Given the description of an element on the screen output the (x, y) to click on. 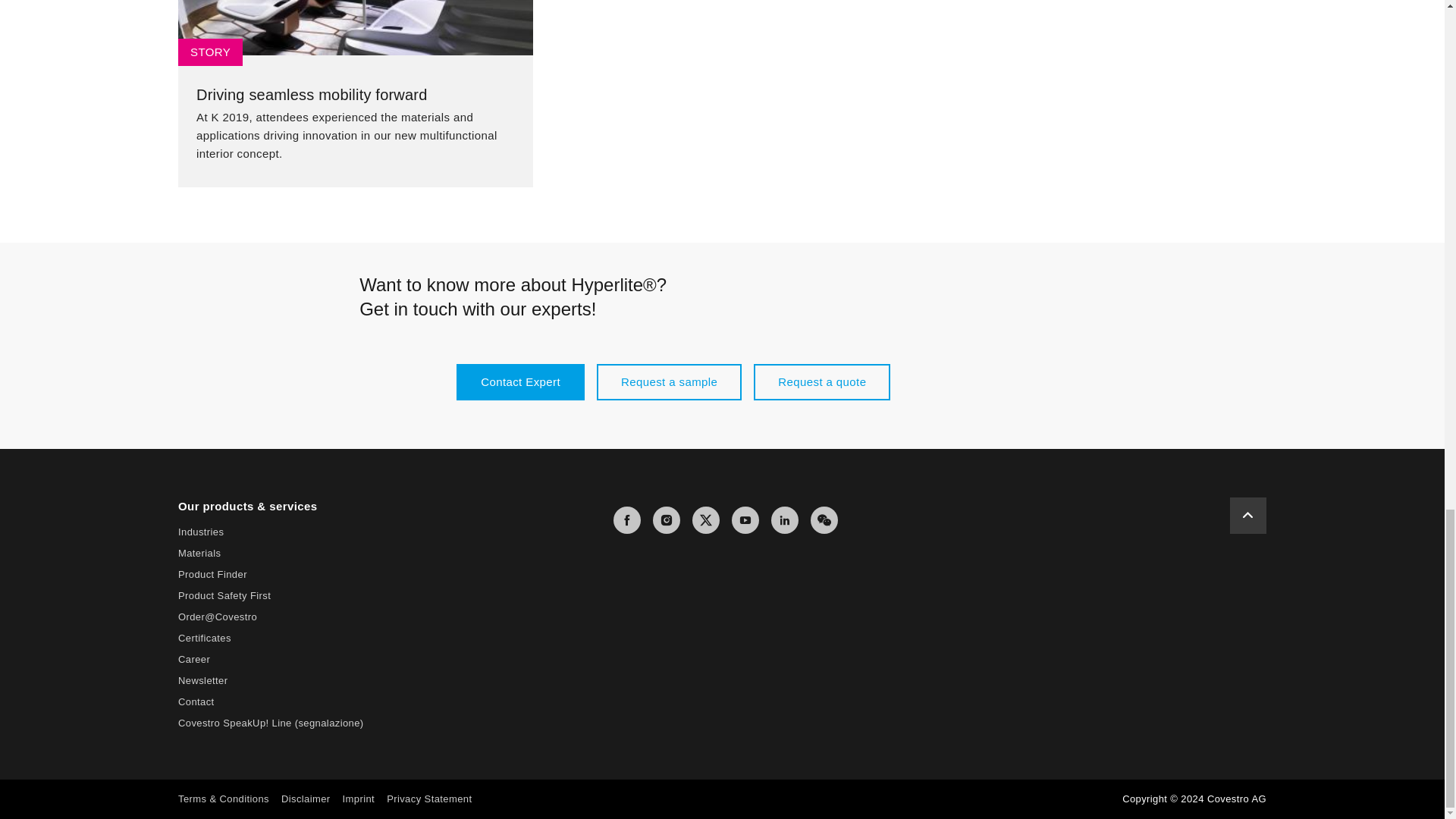
Industries (200, 531)
Imprint (358, 798)
Privacy Statement (429, 798)
Career (193, 659)
Product Finder (212, 573)
Contact (195, 701)
Materials (199, 552)
Product Safety First (223, 595)
Newsletter (202, 680)
Disclaimer (305, 798)
Certificates (204, 637)
